Given the description of an element on the screen output the (x, y) to click on. 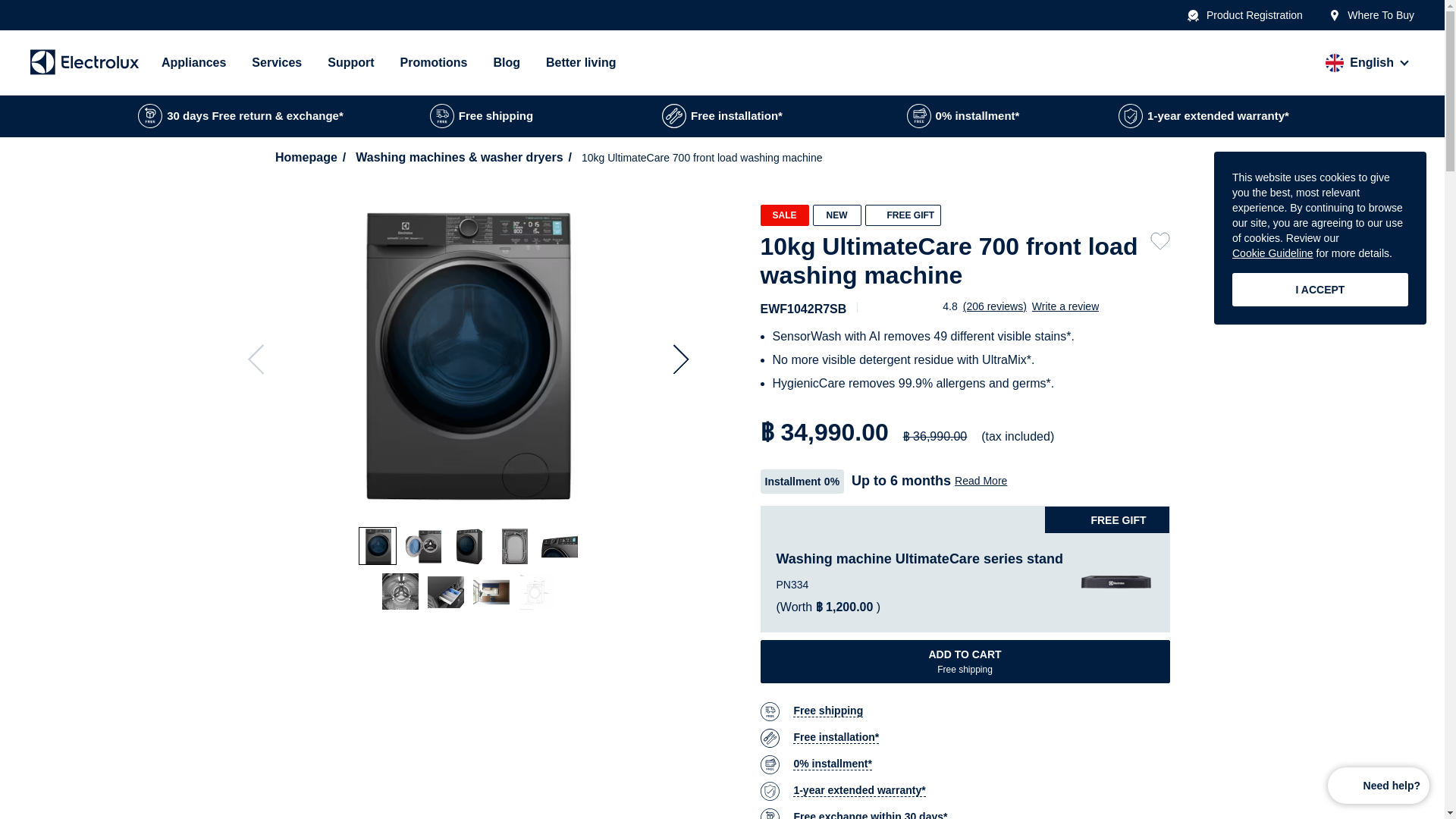
Appliances (193, 61)
Product Registration (1245, 15)
Where To Buy (1370, 15)
PN334 (1116, 581)
Washing machine UltimateCare series stand (919, 558)
